Given the description of an element on the screen output the (x, y) to click on. 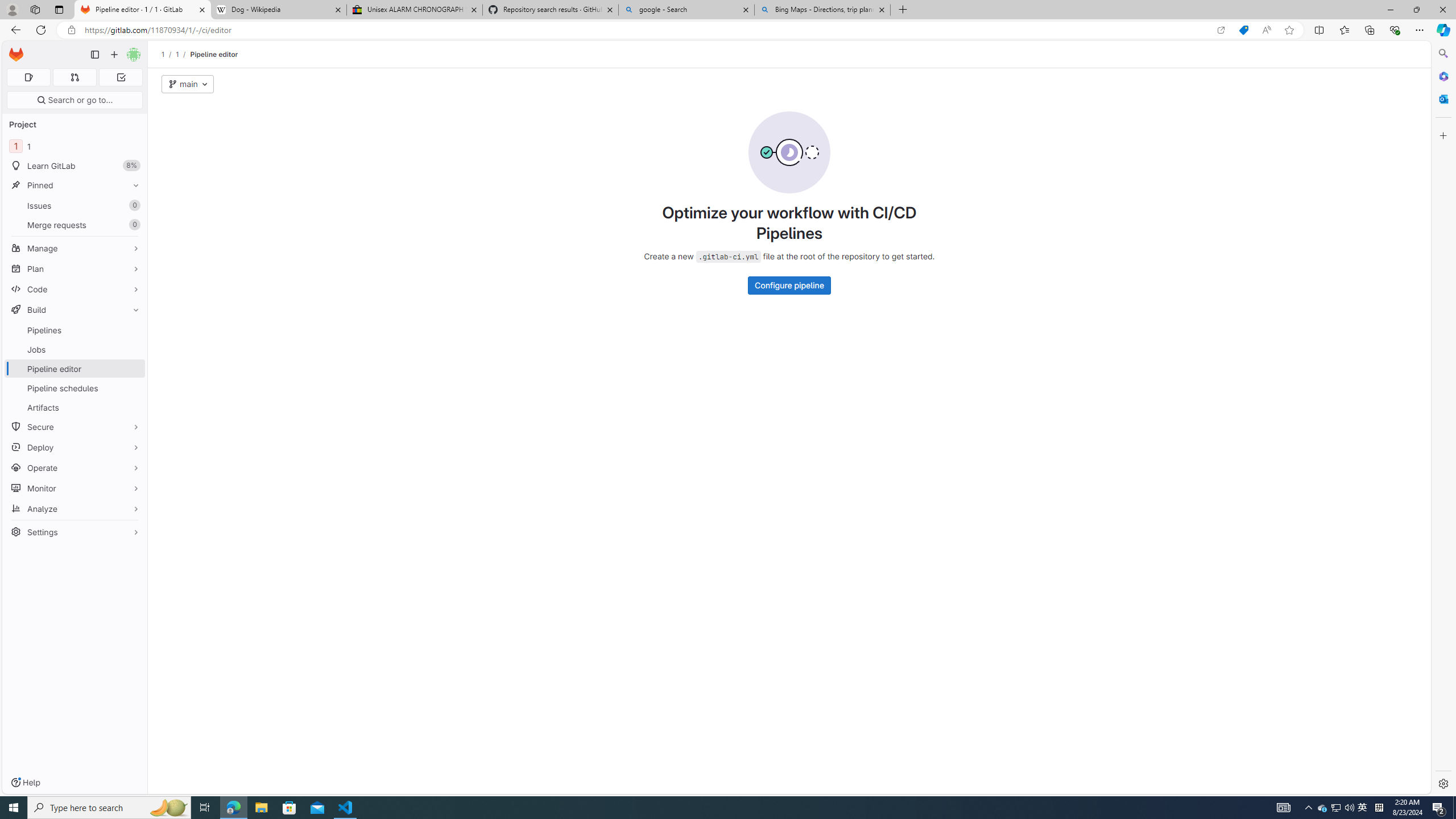
Pin Pipeline schedules (132, 387)
Primary navigation sidebar (94, 54)
Pipeline schedules (74, 387)
Pin Artifacts (132, 407)
Operate (74, 467)
1 1 (74, 145)
